Given the description of an element on the screen output the (x, y) to click on. 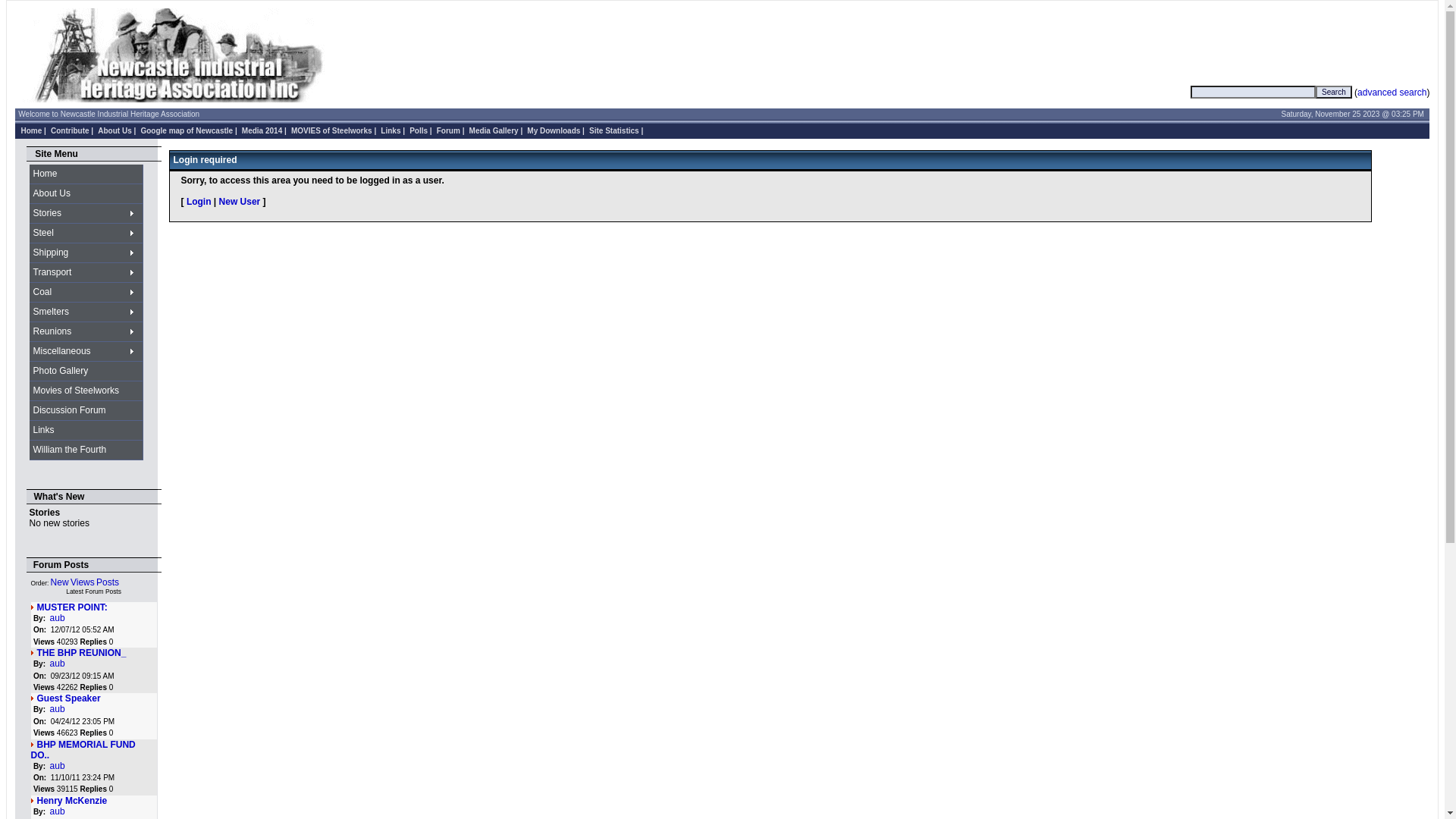
Discussion Forum Element type: text (86, 410)
Photo Gallery Element type: text (86, 371)
Media 2014 Element type: text (261, 130)
aub Element type: text (57, 617)
advanced search Element type: text (1391, 91)
aub Element type: text (57, 811)
Polls Element type: text (418, 130)
aub Element type: text (57, 663)
Views Element type: text (82, 582)
MOVIES of Steelworks Element type: text (331, 130)
Home Element type: text (86, 174)
Home Element type: text (31, 130)
Media Gallery Element type: text (493, 130)
Steel Element type: text (86, 233)
Links Element type: text (86, 430)
Movies of Steelworks Element type: text (86, 391)
Miscellaneous Element type: text (86, 351)
Site Statistics Element type: text (614, 130)
BHP MEMORIAL FUND DO.. Element type: text (83, 749)
Links Element type: text (390, 130)
About Us Element type: text (114, 130)
Henry McKenzie Element type: text (72, 800)
aub Element type: text (57, 765)
Login Element type: text (198, 201)
Contribute Element type: text (69, 130)
Forum Element type: text (448, 130)
Posts Element type: text (107, 582)
THE BHP REUNION_ Element type: text (81, 652)
New Element type: text (59, 582)
Reunions Element type: text (86, 332)
About Us Element type: text (86, 193)
Coal Element type: text (86, 292)
Shipping Element type: text (86, 253)
William the Fourth Element type: text (86, 450)
Google map of Newcastle Element type: text (186, 130)
New User Element type: text (239, 201)
My Downloads Element type: text (553, 130)
Smelters Element type: text (86, 312)
aub Element type: text (57, 708)
Guest Speaker Element type: text (68, 698)
Transport Element type: text (86, 272)
Search Element type: text (1333, 91)
Stories Element type: text (86, 213)
MUSTER POINT: Element type: text (72, 607)
